Given the description of an element on the screen output the (x, y) to click on. 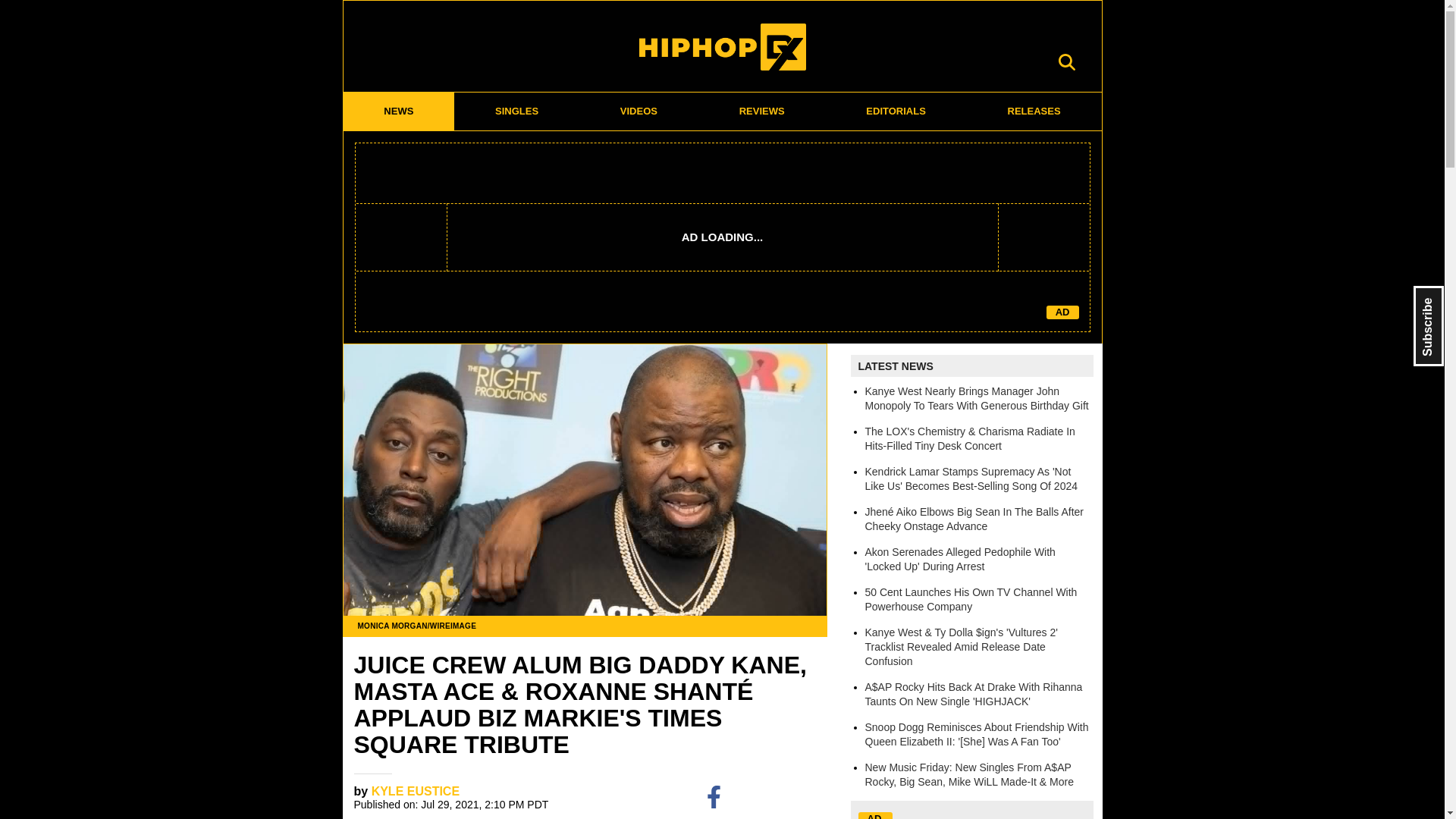
REVIEWS (761, 111)
2 (810, 796)
SINGLES (516, 111)
NEWS (398, 111)
RELEASES (1034, 111)
EDITORIALS (895, 111)
KYLE EUSTICE (415, 790)
VIDEOS (638, 111)
